Given the description of an element on the screen output the (x, y) to click on. 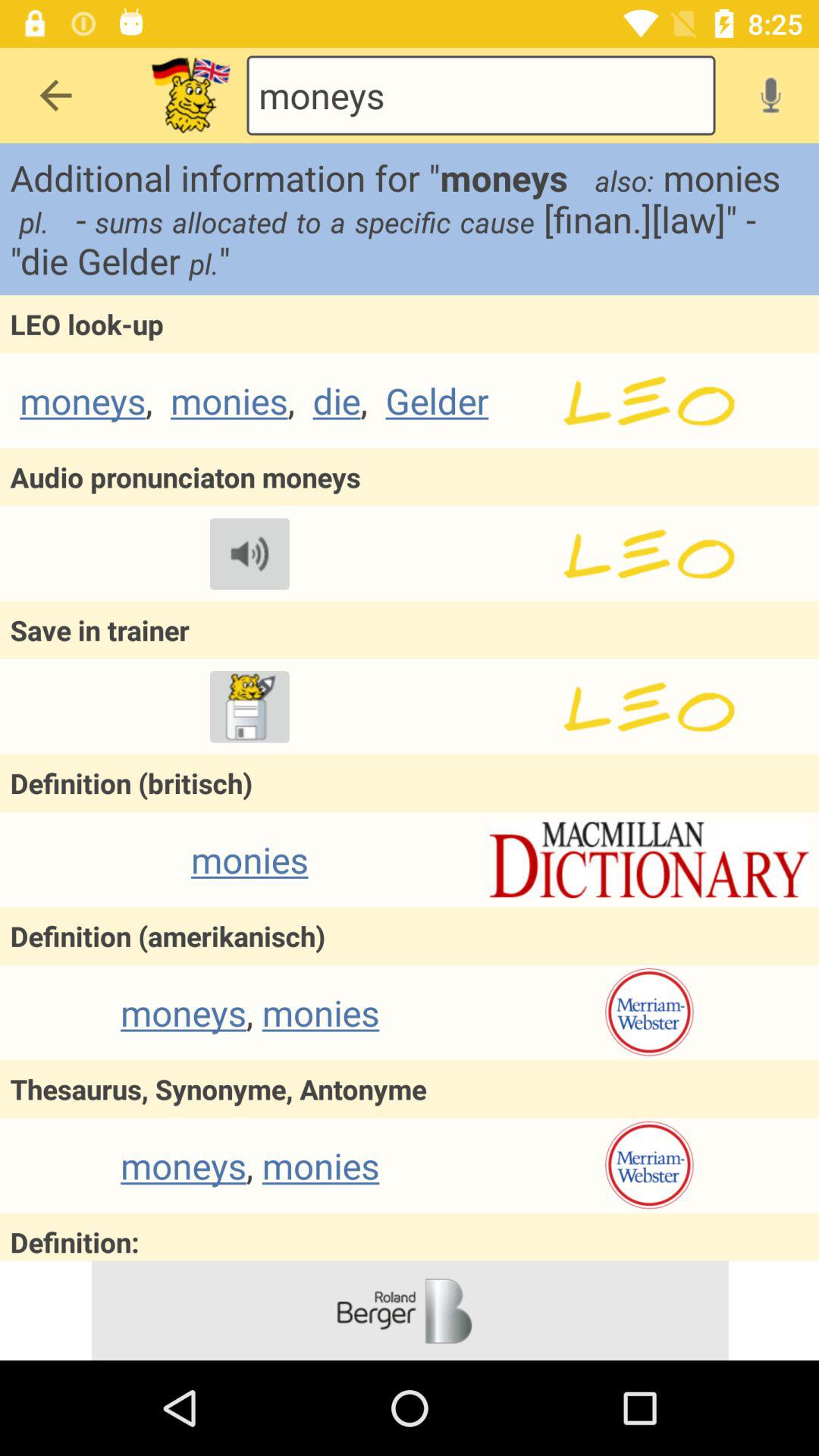
name (648, 553)
